Given the description of an element on the screen output the (x, y) to click on. 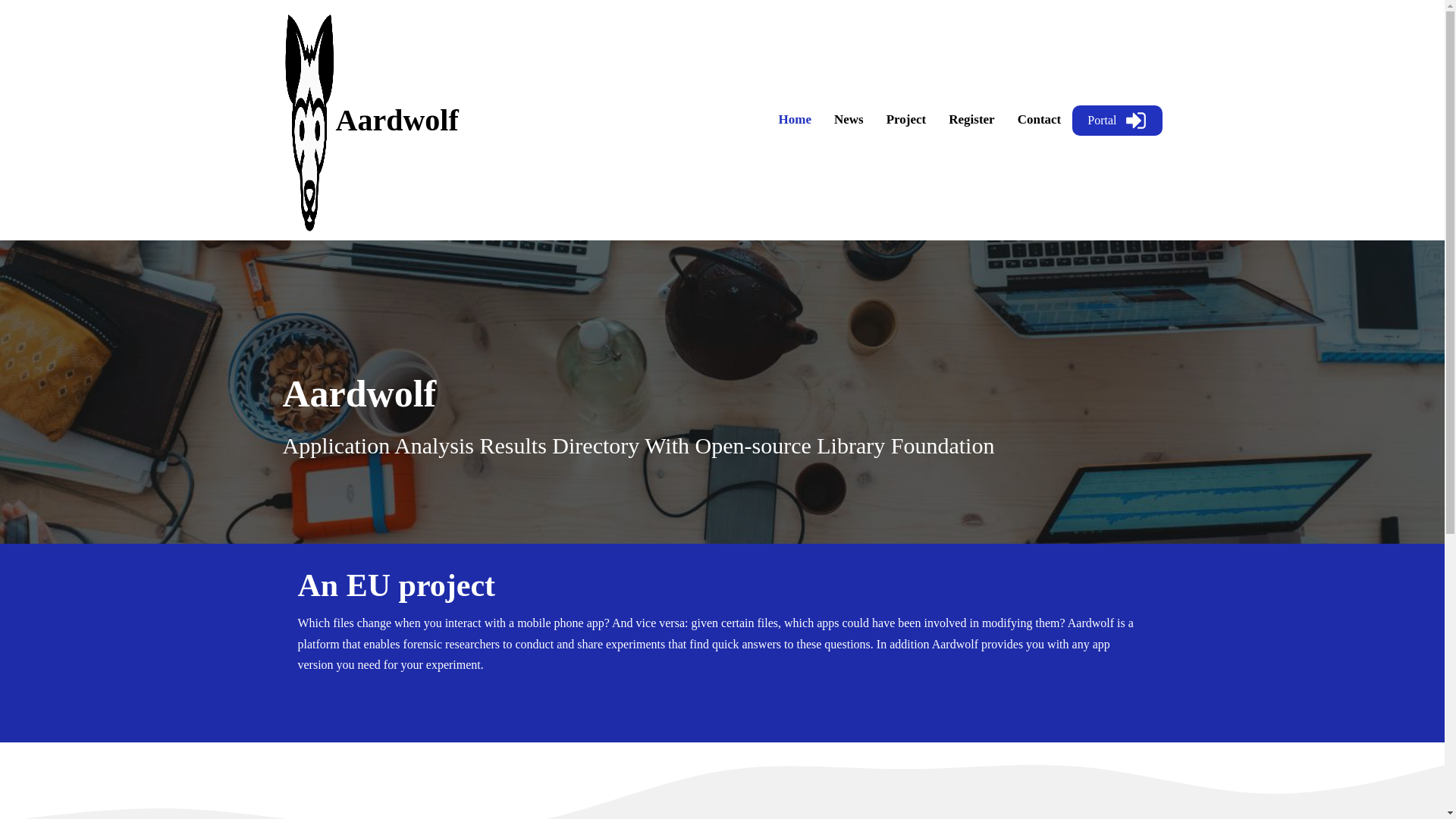
Home (794, 119)
Portal (1116, 119)
Register (971, 119)
Project (906, 119)
News (848, 119)
Contact (1039, 119)
